Given the description of an element on the screen output the (x, y) to click on. 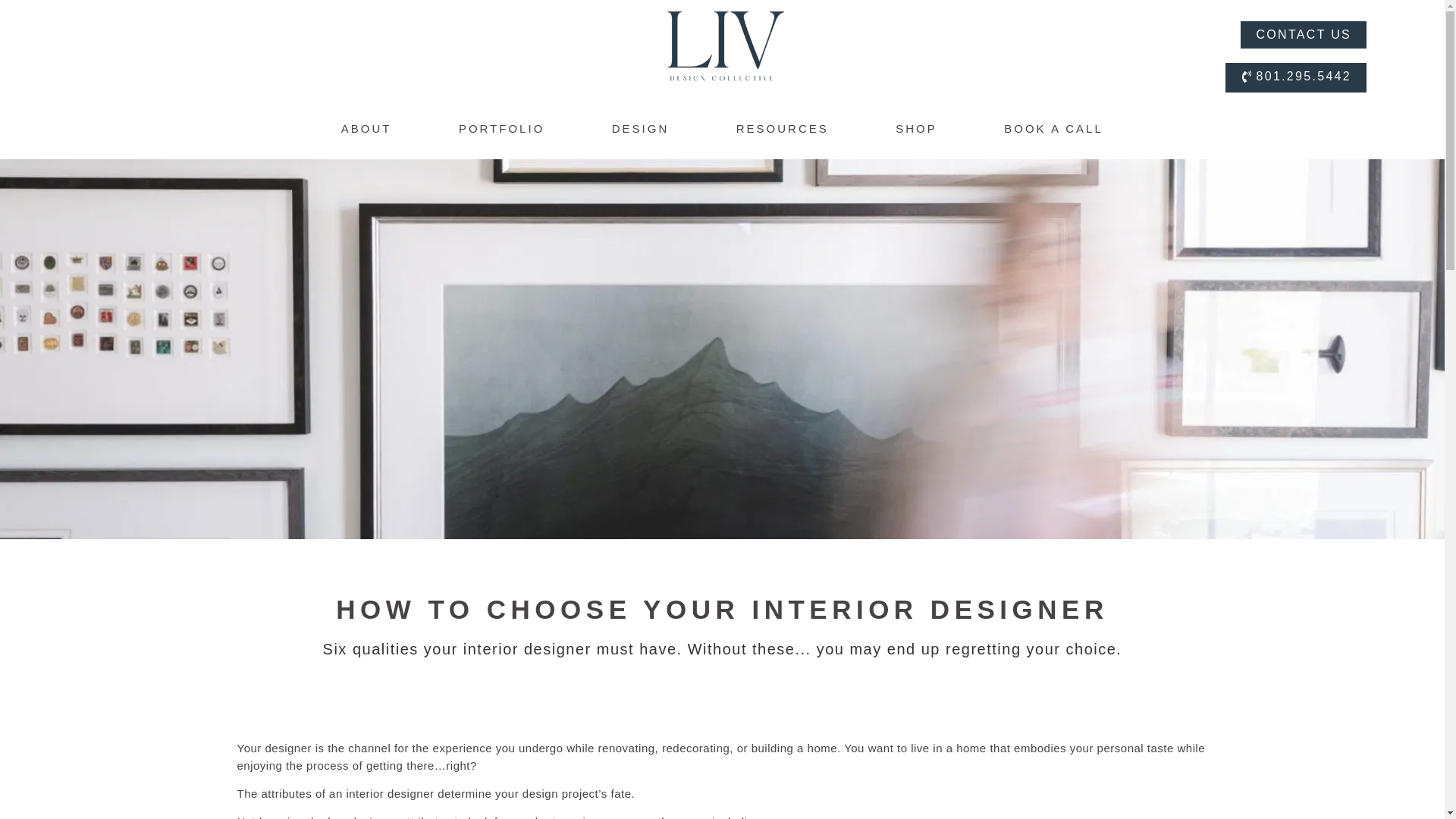
PORTFOLIO (501, 128)
801.295.5442 (1295, 77)
RESOURCES (783, 128)
BOOK A CALL (1054, 128)
ABOUT (366, 128)
SHOP (916, 128)
DESIGN (640, 128)
CONTACT US (1303, 34)
